Given the description of an element on the screen output the (x, y) to click on. 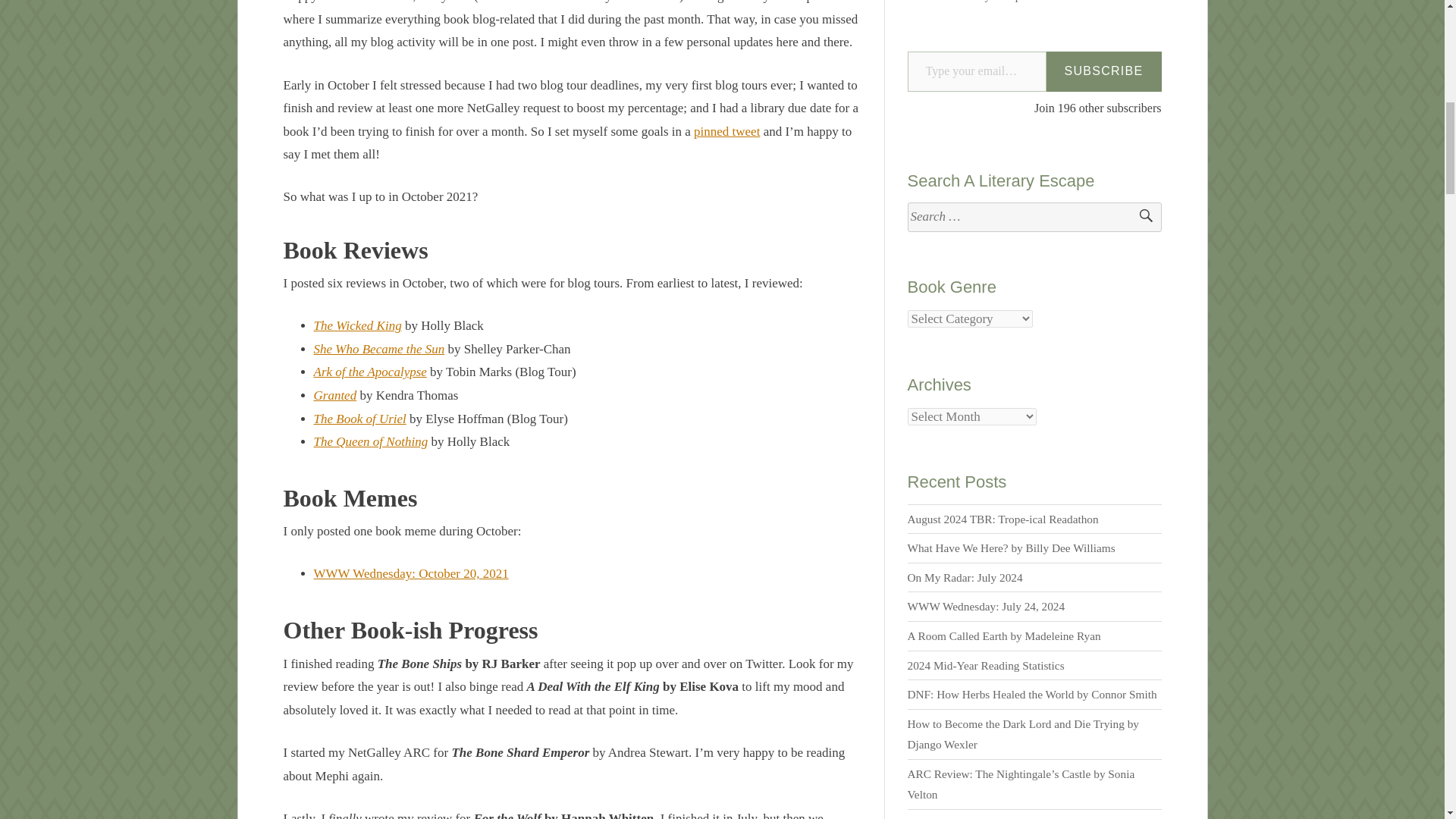
She Who Became the Sun (379, 349)
The Book of Uriel (360, 418)
Please fill in this field. (976, 71)
pinned tweet (727, 131)
The Queen of Nothing (371, 441)
Granted (335, 395)
WWW Wednesday: October 20, 2021 (411, 573)
The Wicked King (357, 325)
Search (1138, 216)
Ark of the Apocalypse (370, 371)
Search (1138, 216)
